Given the description of an element on the screen output the (x, y) to click on. 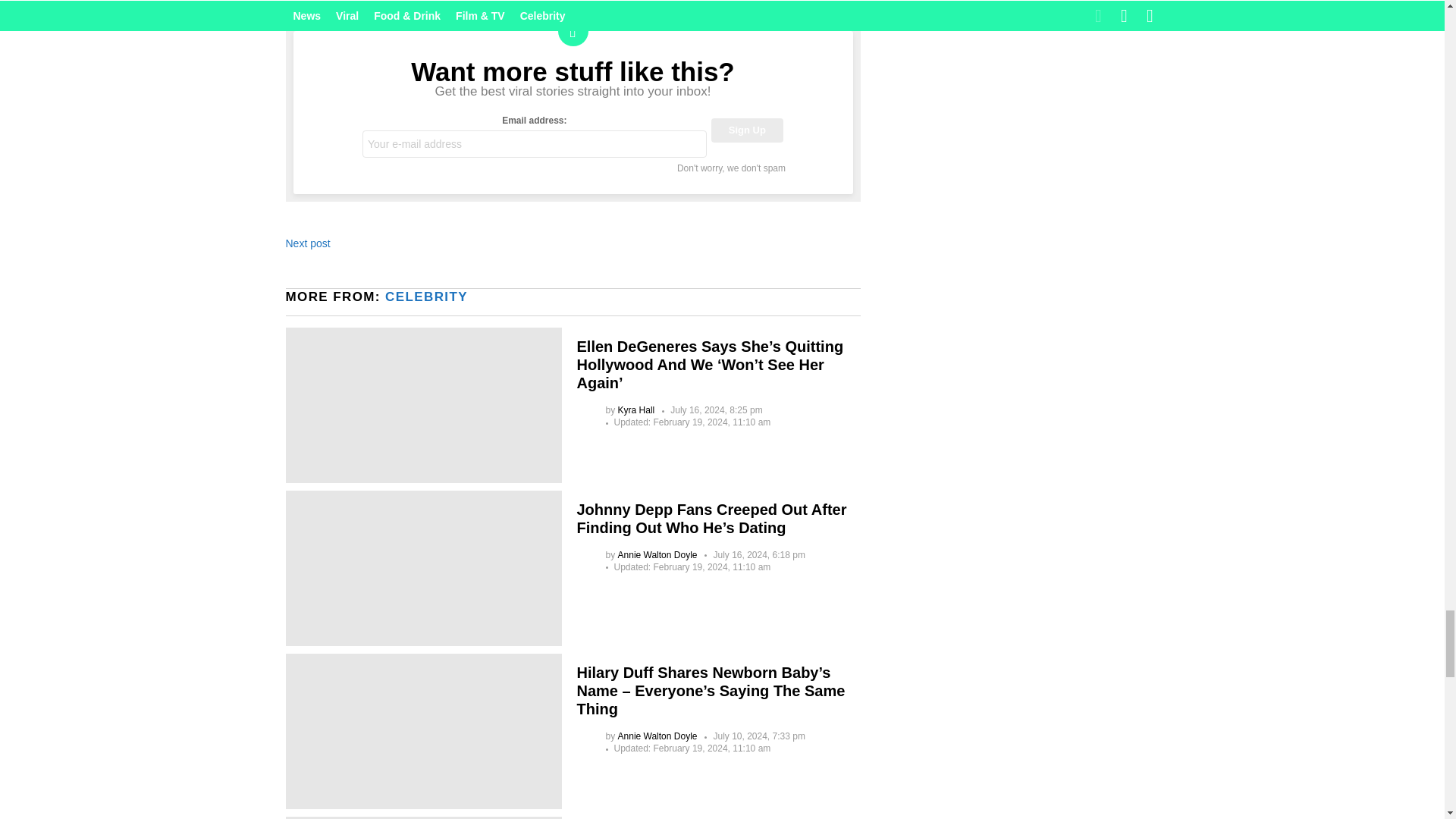
Sign up (747, 129)
